Given the description of an element on the screen output the (x, y) to click on. 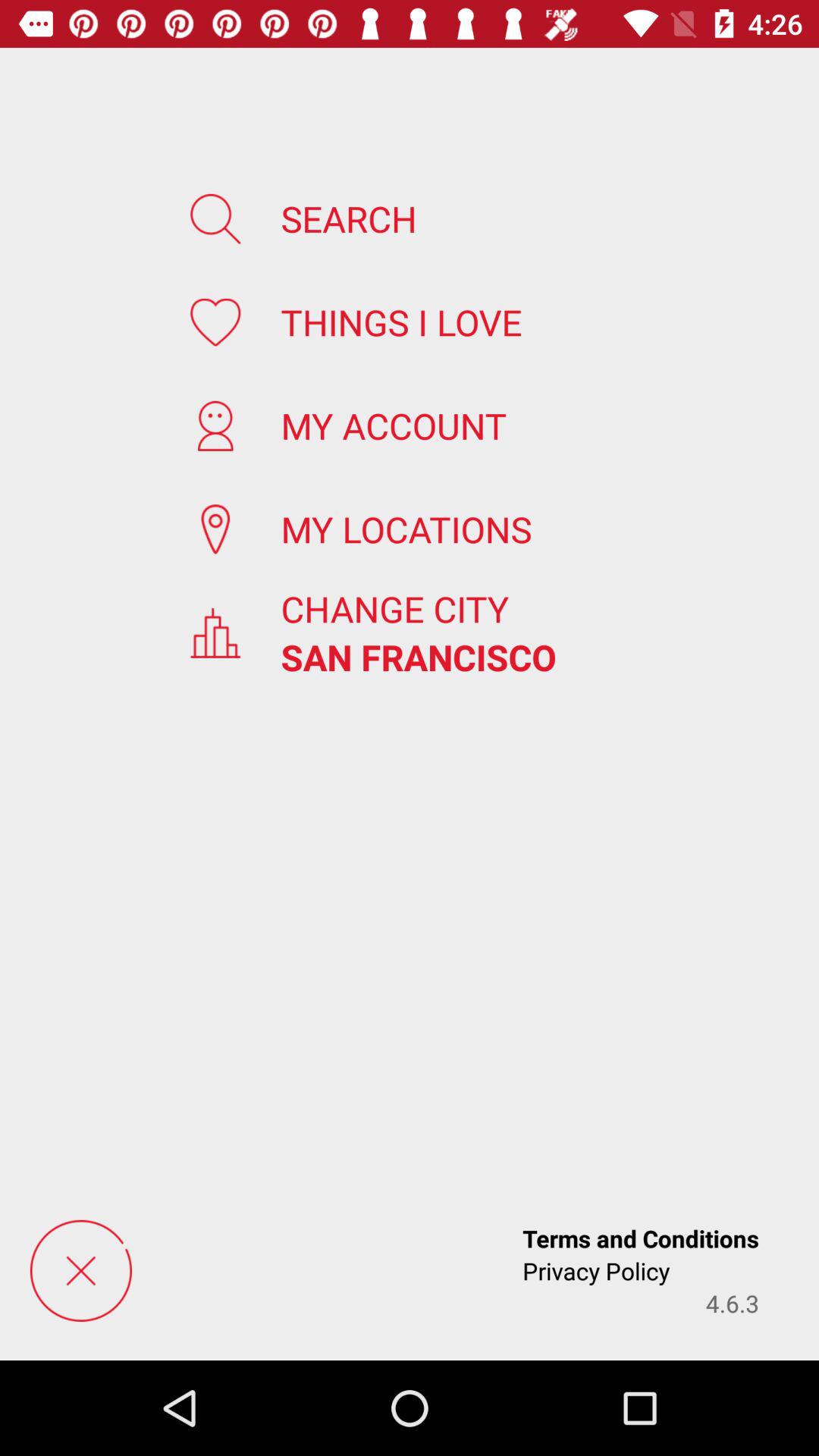
turn on the item below the my locations app (394, 608)
